Given the description of an element on the screen output the (x, y) to click on. 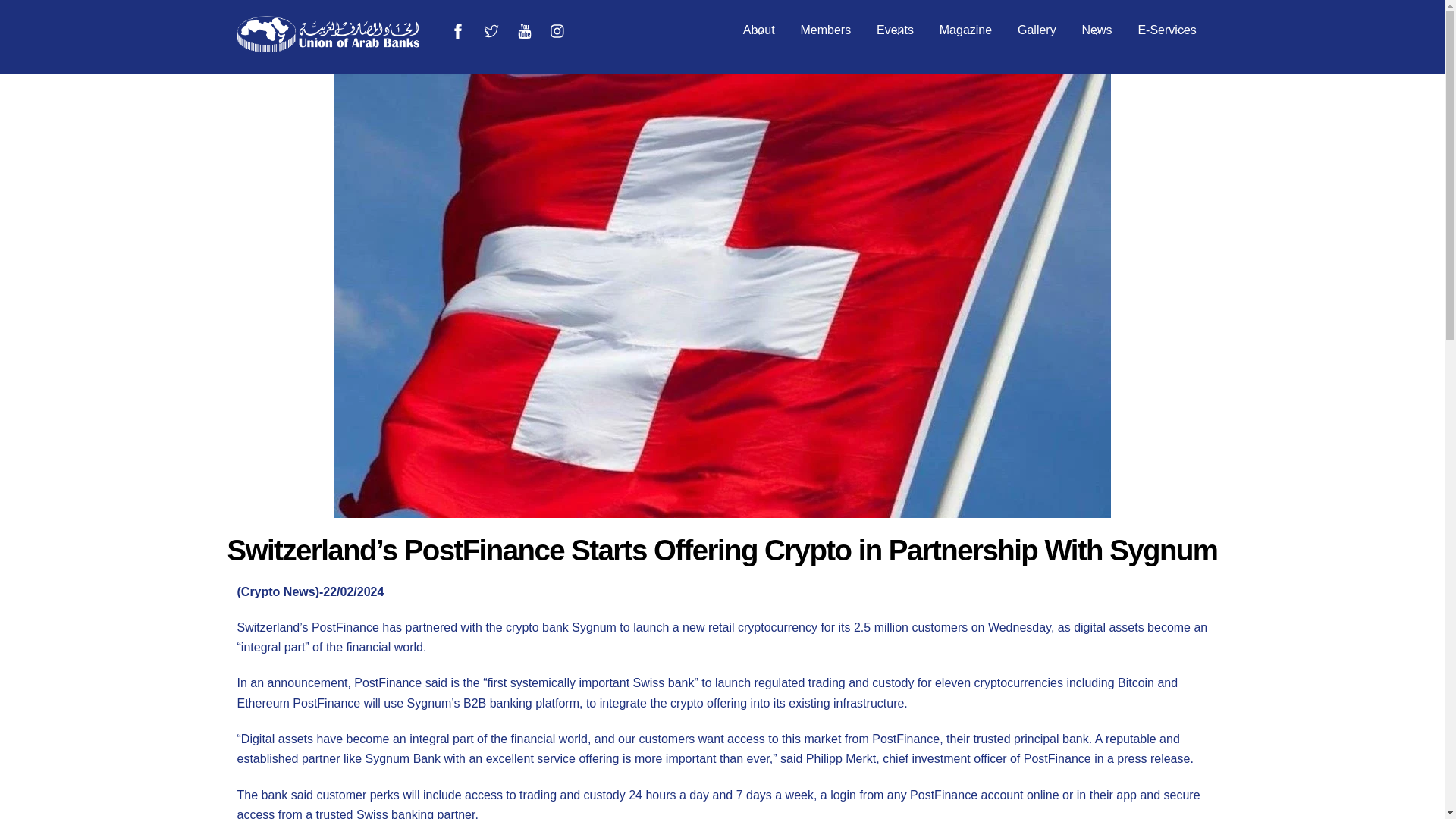
Members (826, 30)
News (1096, 30)
Union of Arab Banks (721, 30)
Events (327, 44)
About (895, 30)
Magazine (758, 30)
E-Services (964, 30)
Gallery (1167, 30)
